Given the description of an element on the screen output the (x, y) to click on. 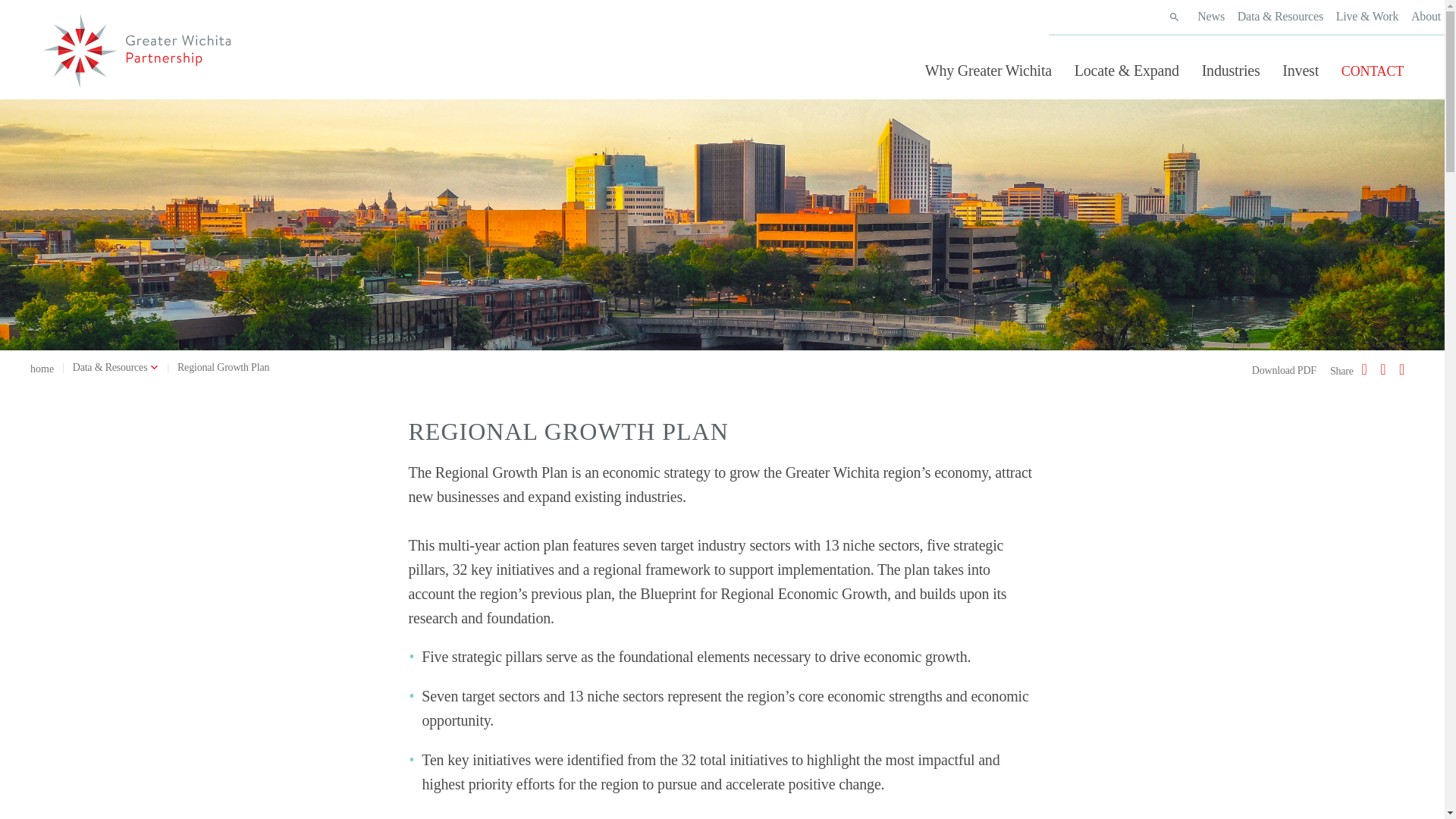
News (1210, 15)
Share on Linkedin (1403, 368)
Share on Facebook (1366, 368)
Share on Twitter (1384, 368)
